Given the description of an element on the screen output the (x, y) to click on. 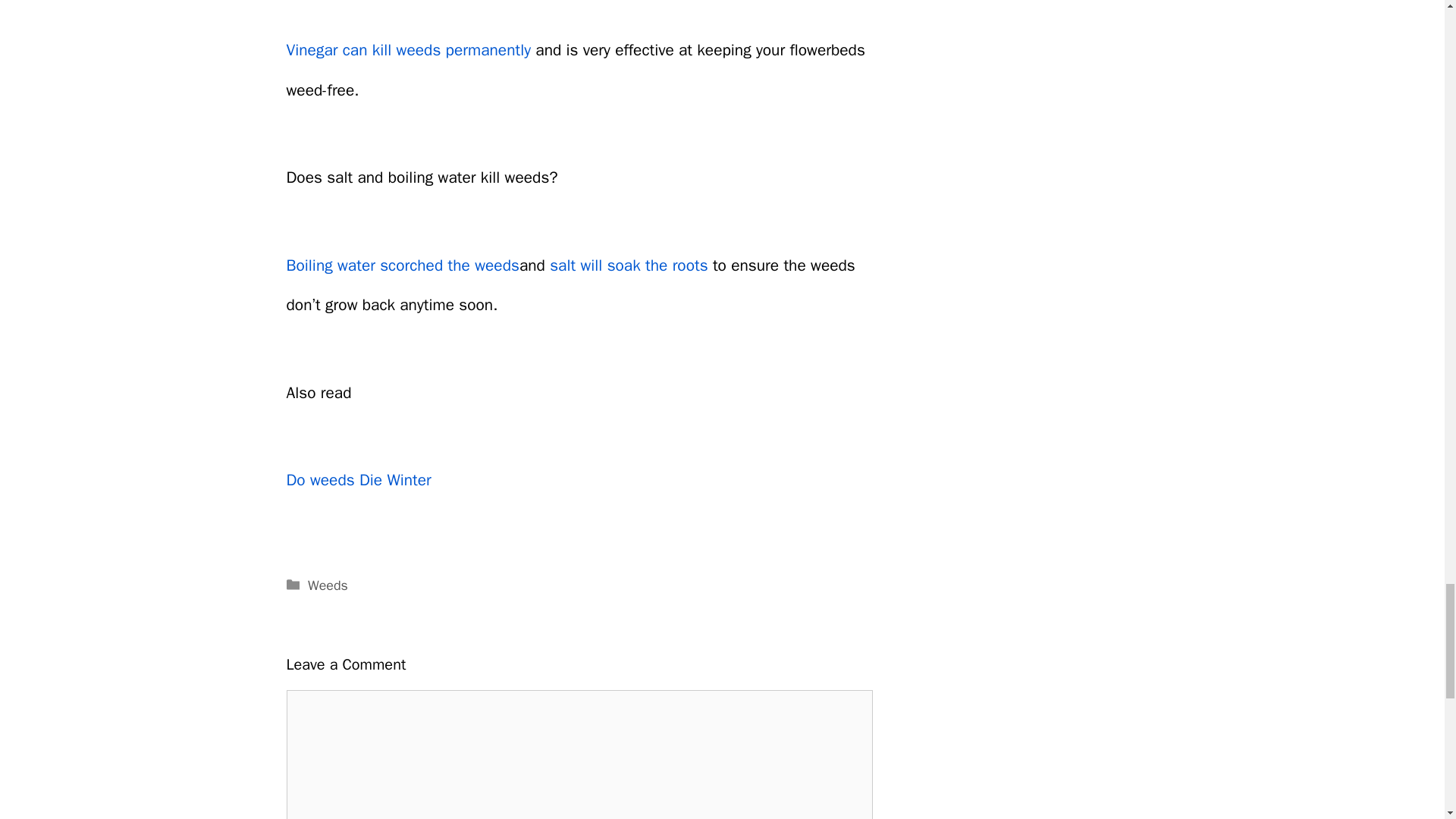
Boiling water scorched the weeds (402, 265)
Do weeds Die Winter (358, 479)
Vinegar can kill weeds permanently (410, 49)
Weeds (327, 585)
salt will soak the roots (628, 265)
